Given the description of an element on the screen output the (x, y) to click on. 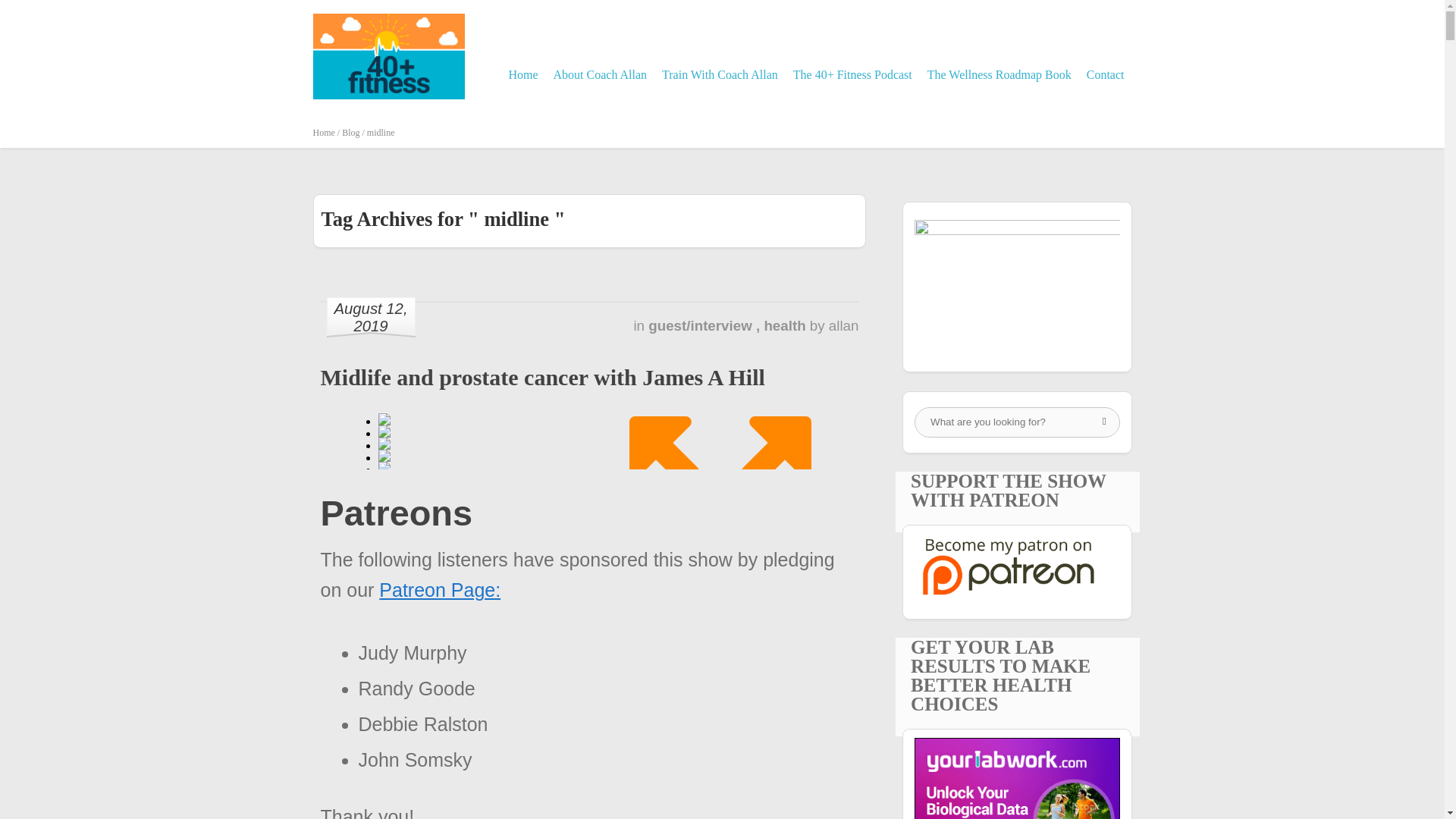
About Coach Allan (600, 74)
Home (522, 74)
Midlife and prostate cancer with James A Hill (542, 376)
Train With Coach Allan (719, 74)
The Wellness Roadmap Book (999, 74)
Contact (1105, 74)
allan (843, 325)
health (785, 325)
Patreon Page: (439, 589)
